Given the description of an element on the screen output the (x, y) to click on. 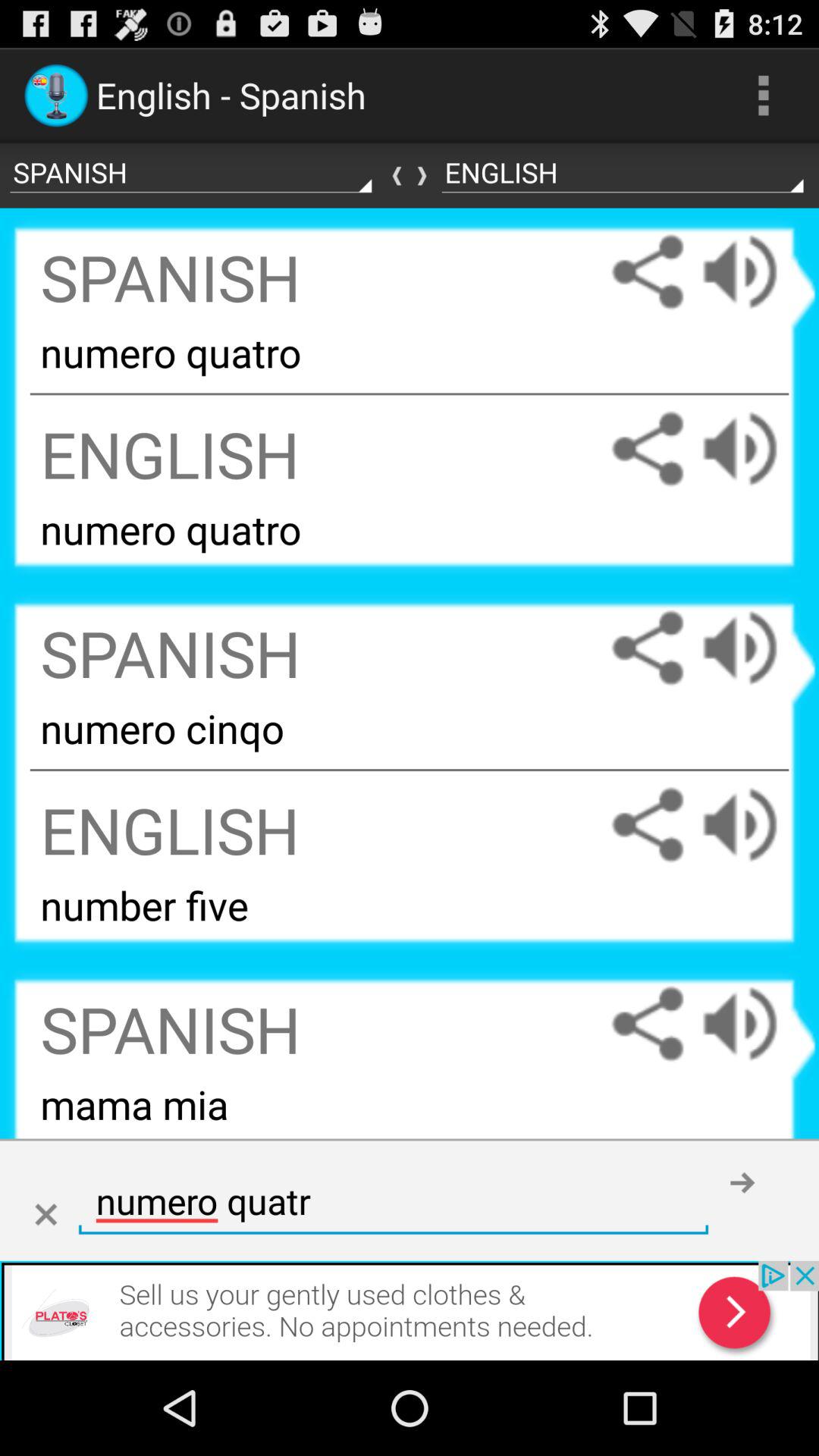
share spanish numero quatro (647, 271)
